Given the description of an element on the screen output the (x, y) to click on. 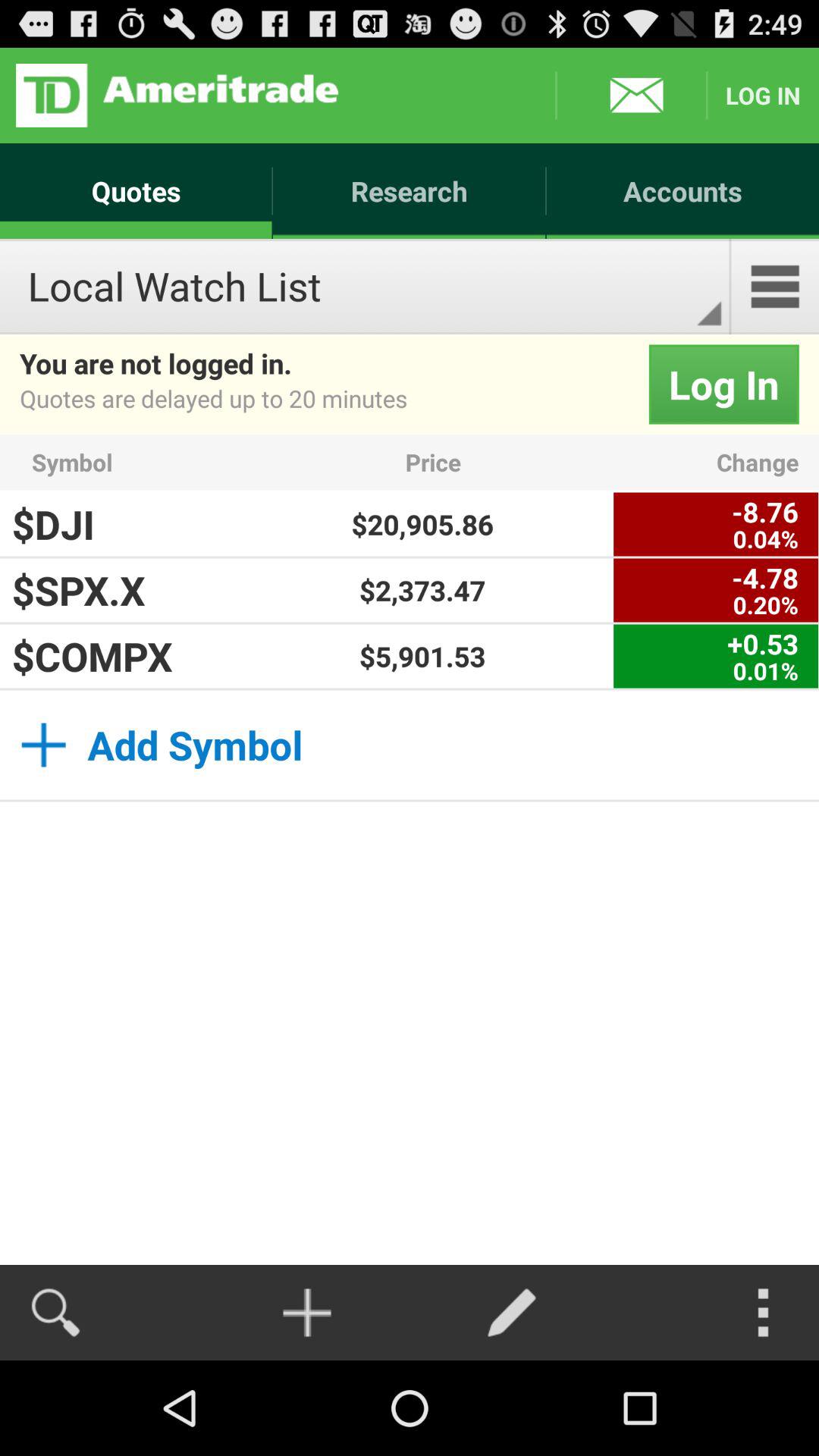
open the icon to the right of the quotes icon (409, 190)
